Given the description of an element on the screen output the (x, y) to click on. 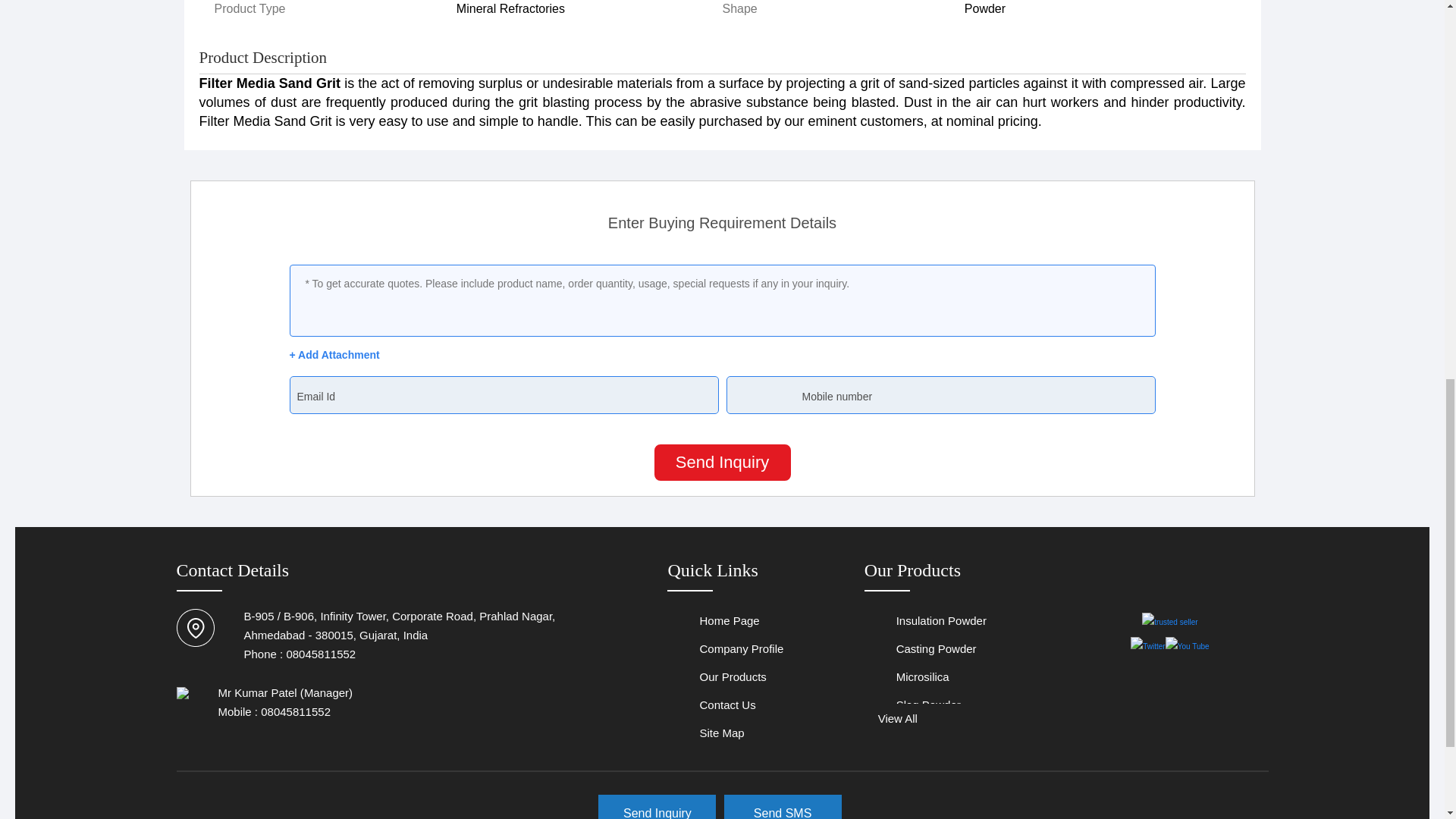
Send Inquiry (721, 462)
Twitter (1147, 646)
You Tube (1187, 646)
